Given the description of an element on the screen output the (x, y) to click on. 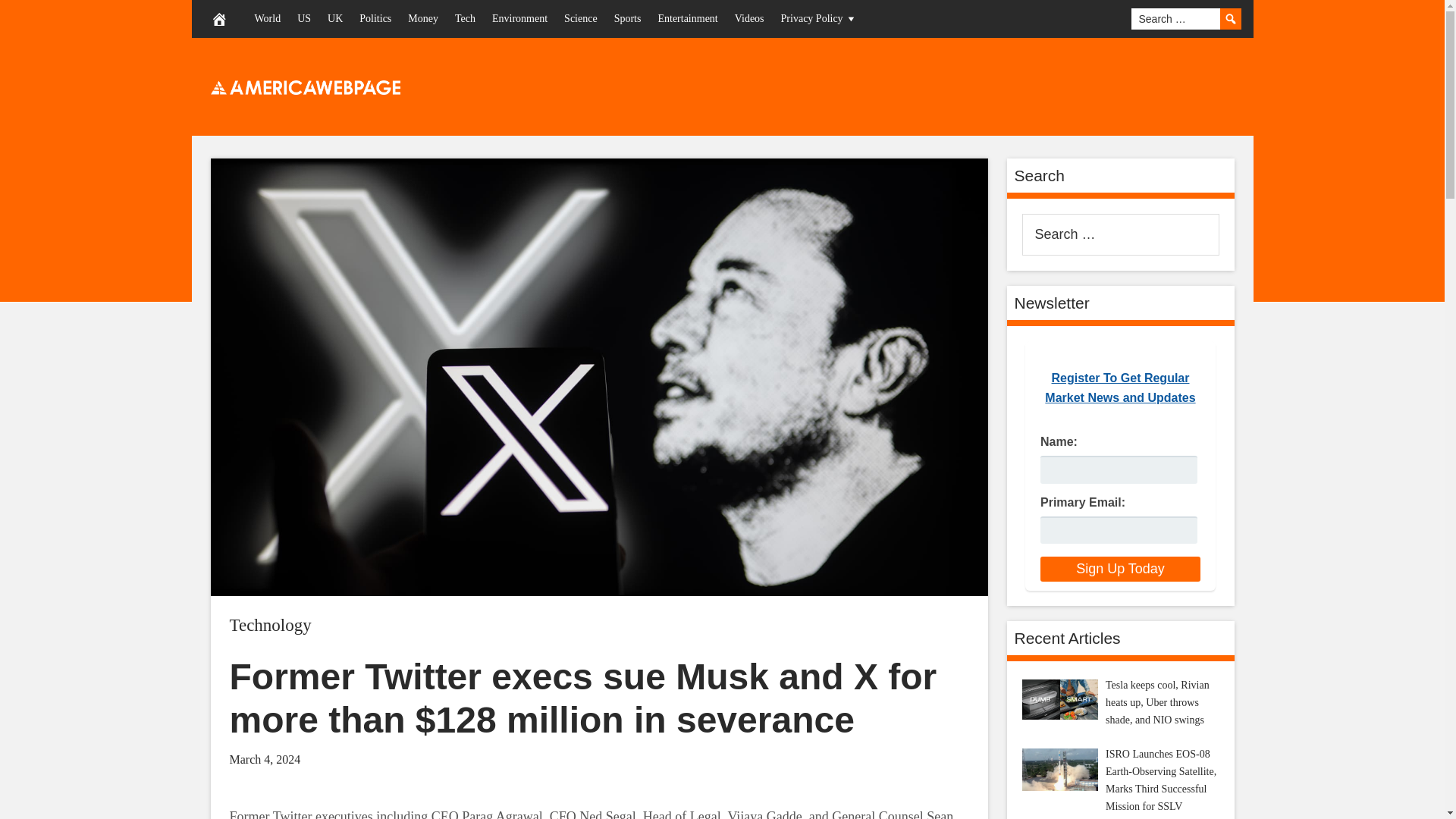
Sports (627, 18)
Politics (374, 18)
Privacy Policy (819, 18)
Tech (464, 18)
Sign Up Today (1120, 568)
Technology (269, 624)
Environment (519, 18)
